Given the description of an element on the screen output the (x, y) to click on. 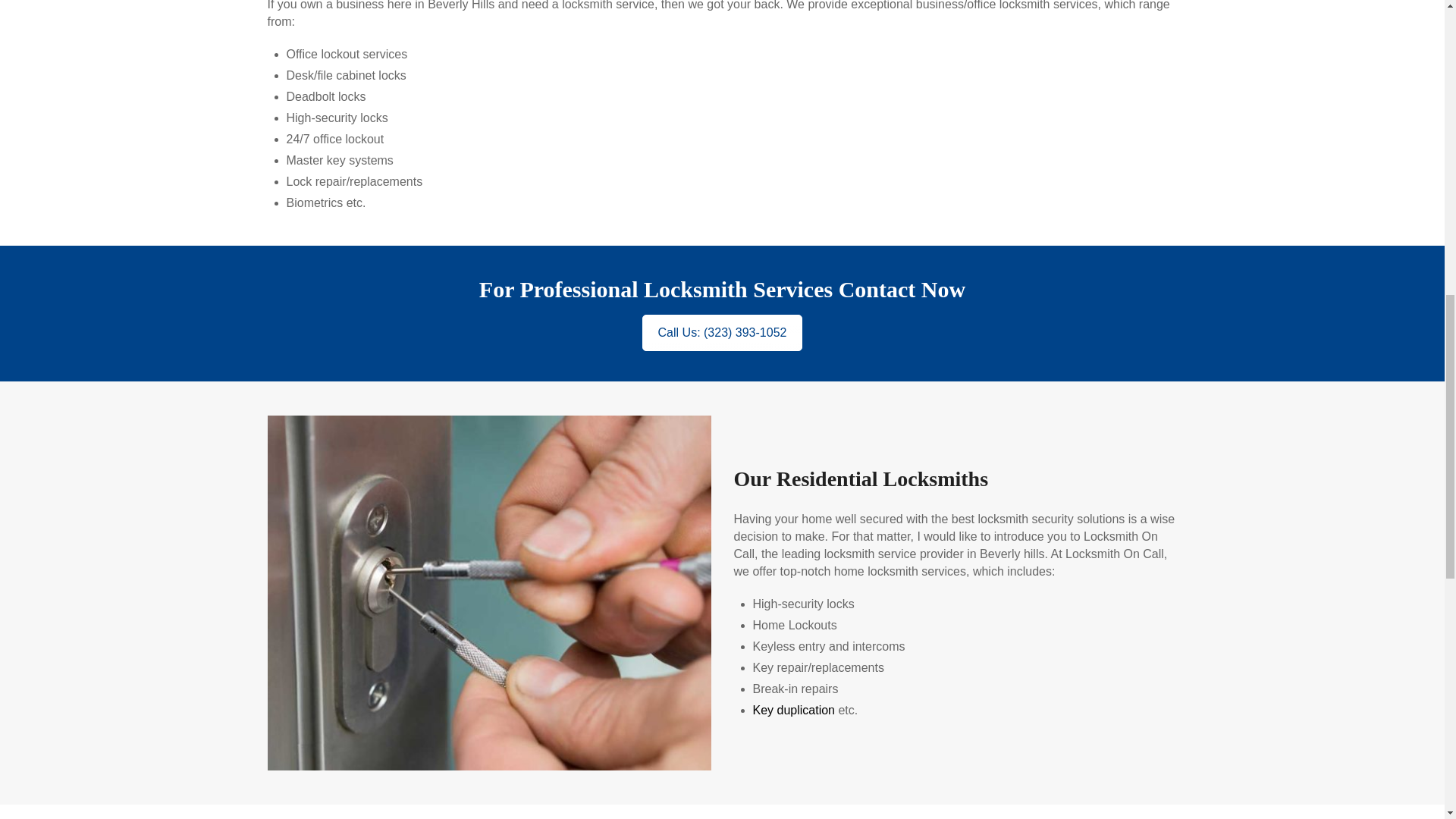
Key duplication (793, 709)
